Given the description of an element on the screen output the (x, y) to click on. 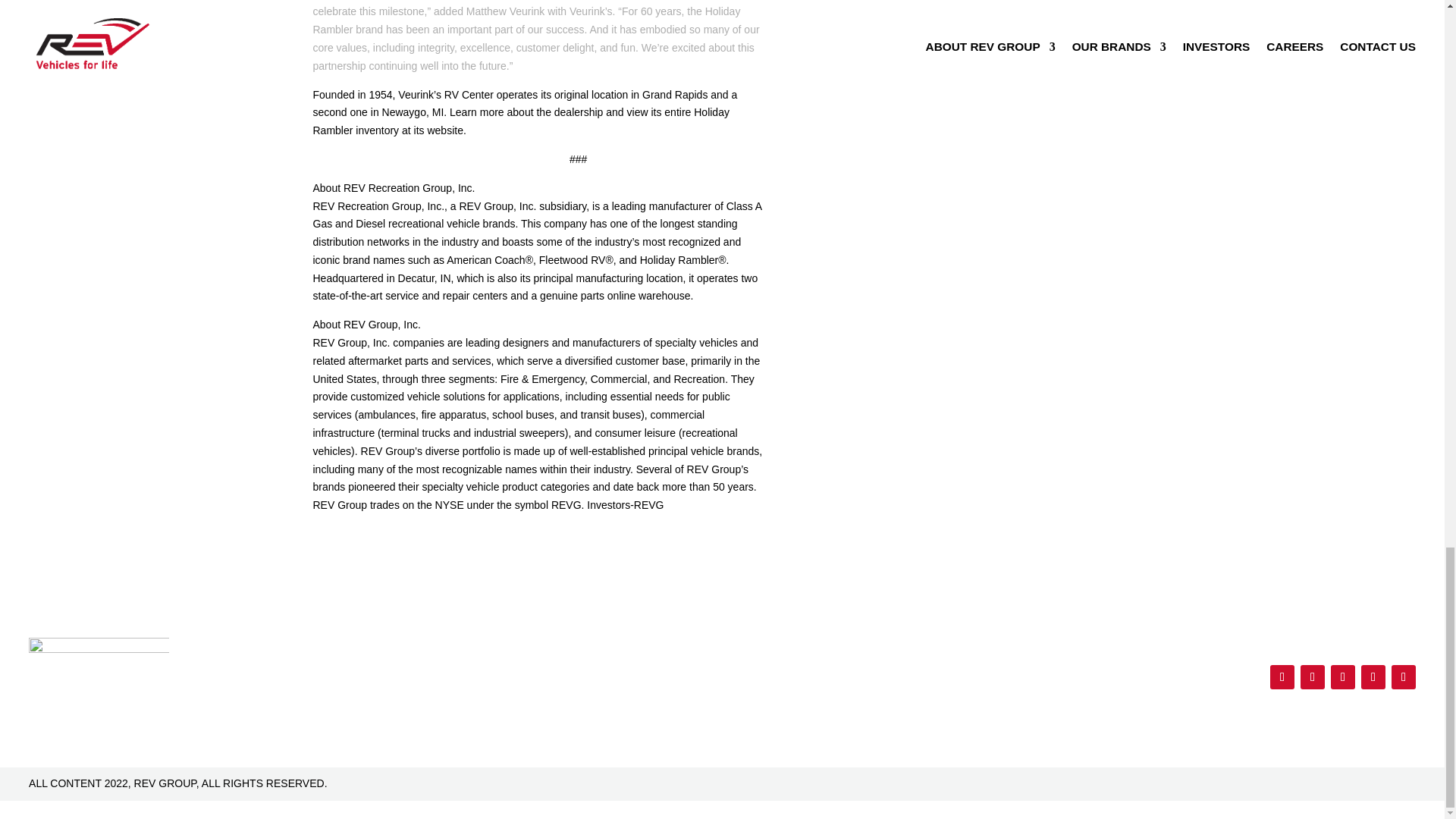
Follow on LinkedIn (1403, 677)
Follow on Youtube (1373, 677)
Follow on Facebook (1281, 677)
REV 2-Color logo Red and White with Tag (98, 669)
Follow on Instagram (1342, 677)
Follow on X (1312, 677)
